Given the description of an element on the screen output the (x, y) to click on. 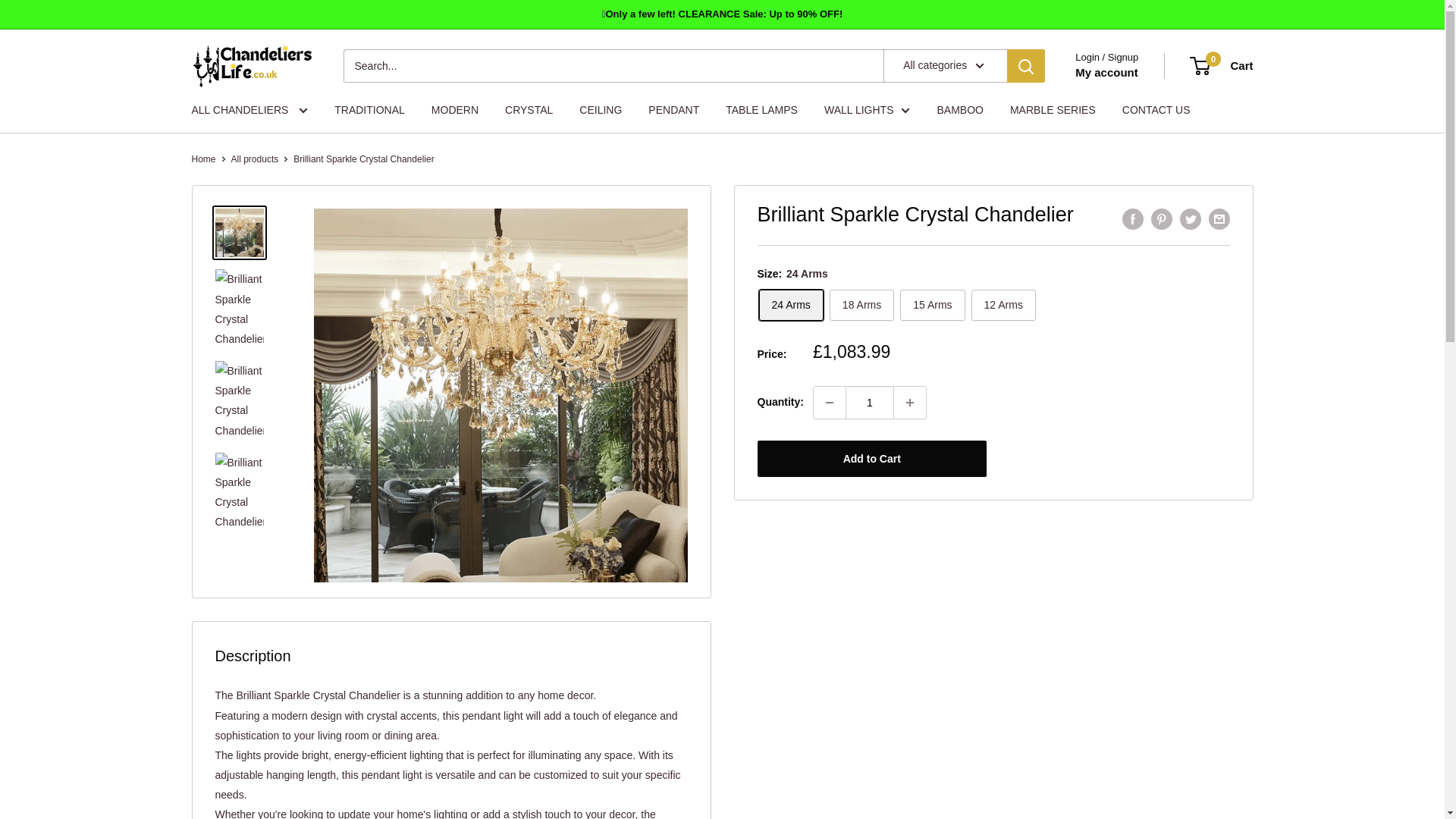
Increase quantity by 1 (909, 402)
Decrease quantity by 1 (829, 402)
24 Arms (790, 305)
15 Arms (931, 305)
18 Arms (861, 305)
1 (869, 402)
12 Arms (1003, 305)
